Given the description of an element on the screen output the (x, y) to click on. 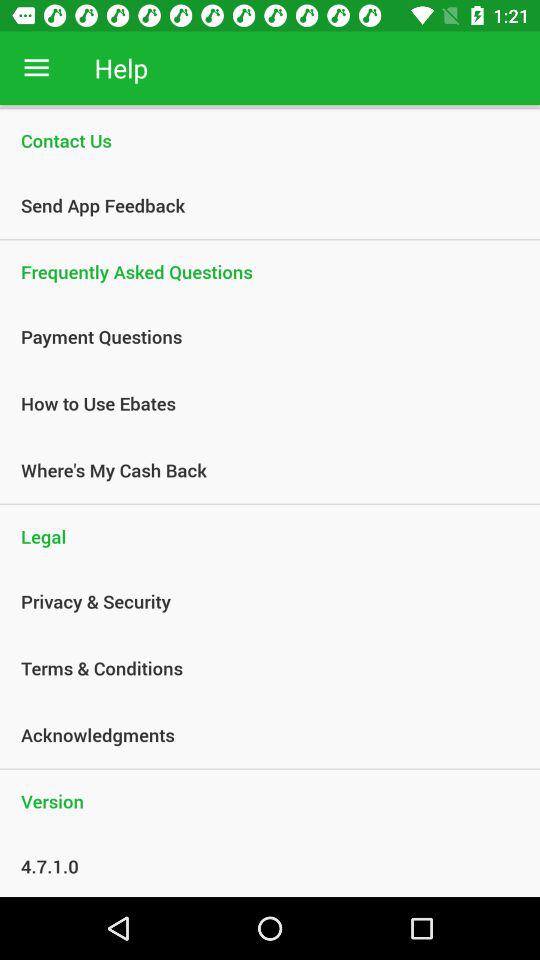
click privacy & security (259, 601)
